Given the description of an element on the screen output the (x, y) to click on. 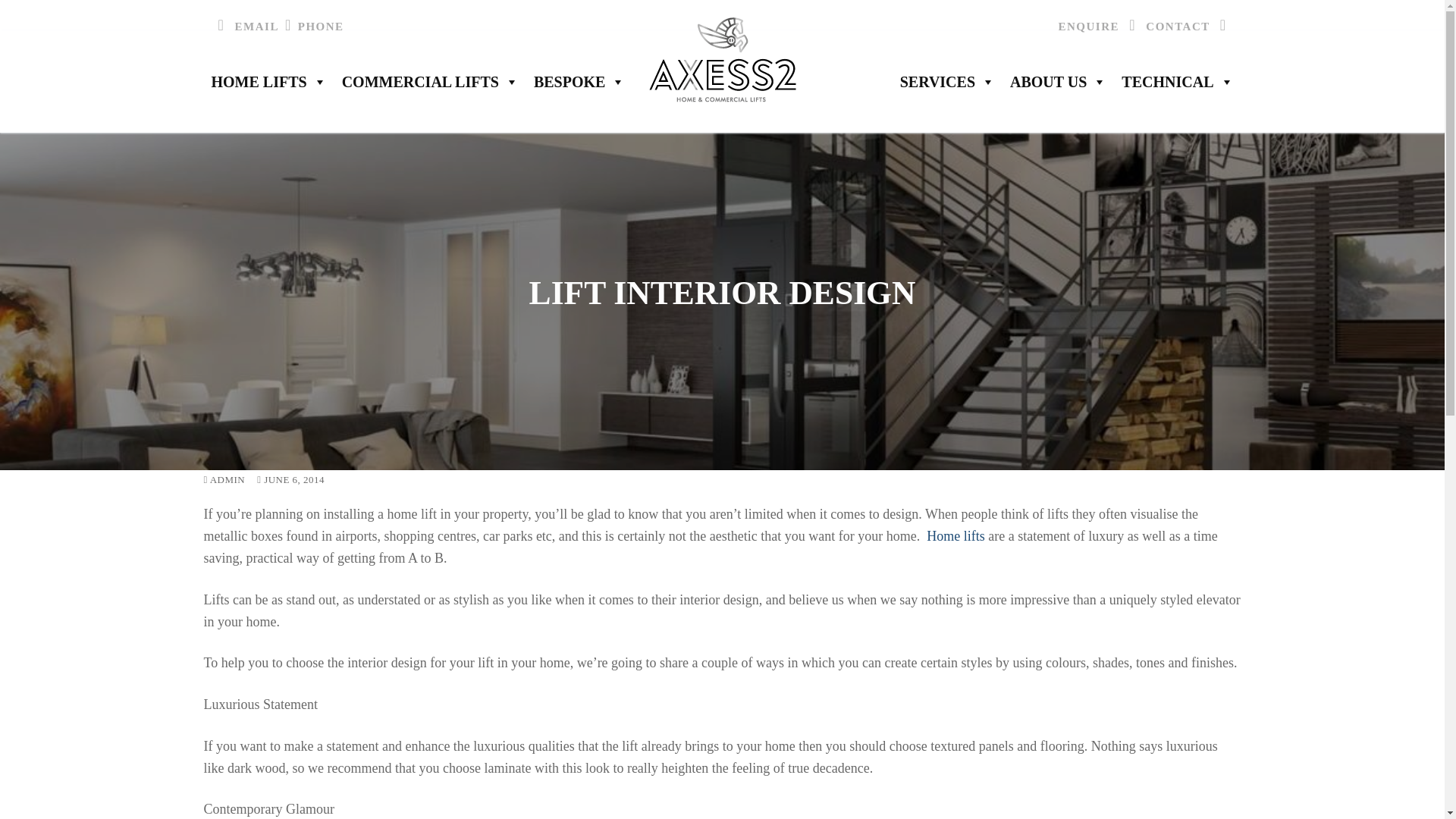
COMMERCIAL LIFTS (429, 81)
SERVICES (947, 81)
EMAIL (245, 25)
HOME LIFTS (268, 81)
CONTACT (1188, 25)
ENQUIRE (1100, 25)
TECHNICAL (1176, 81)
PHONE (311, 25)
ABOUT US (1058, 81)
BESPOKE (578, 81)
